Given the description of an element on the screen output the (x, y) to click on. 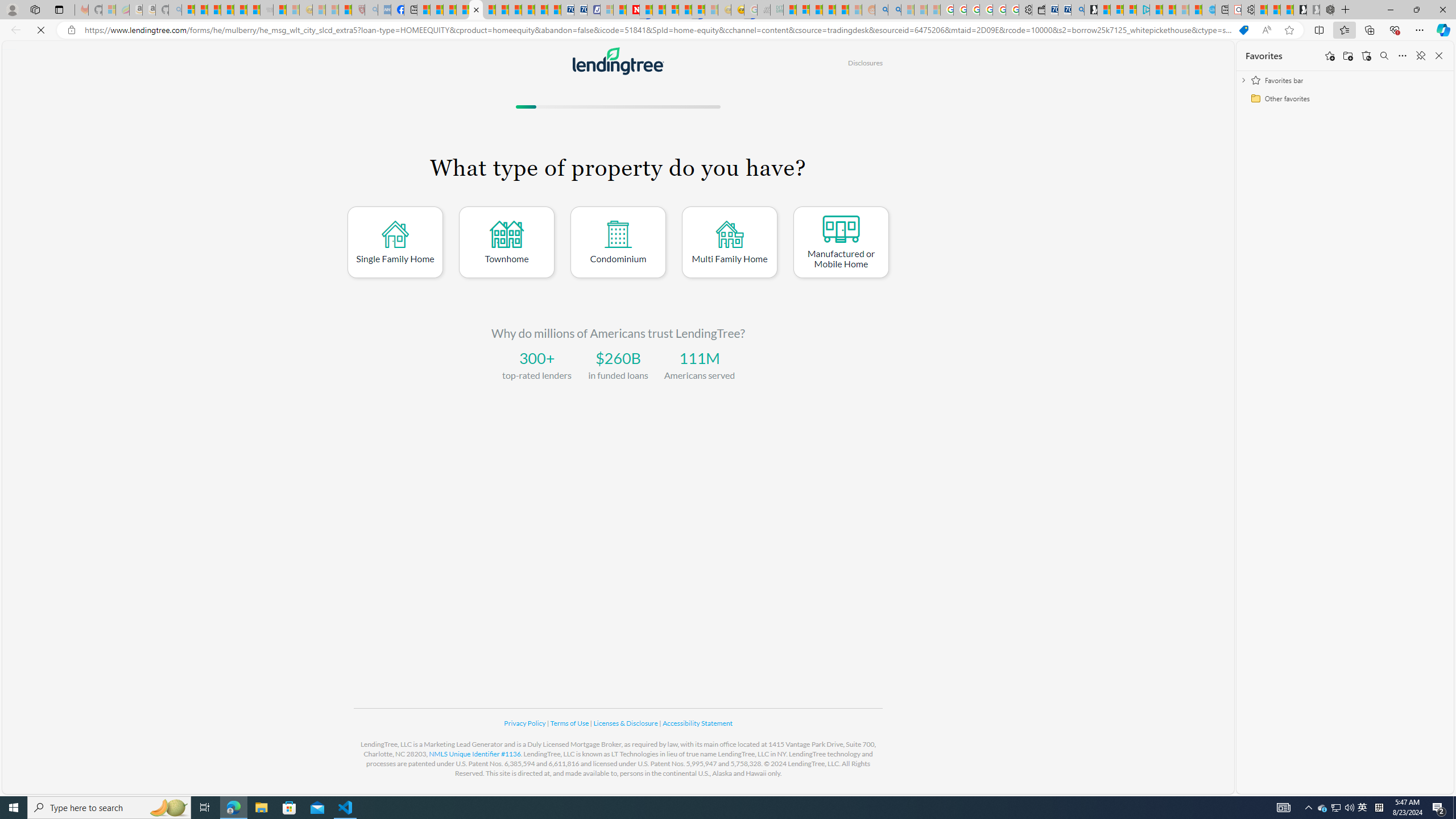
Licenses & Disclosure  (625, 723)
Cheap Car Rentals - Save70.com (1063, 9)
Microsoft Start Gaming (1090, 9)
Microsoft Start - Sleeping (1181, 9)
Local - MSN (344, 9)
